Given the description of an element on the screen output the (x, y) to click on. 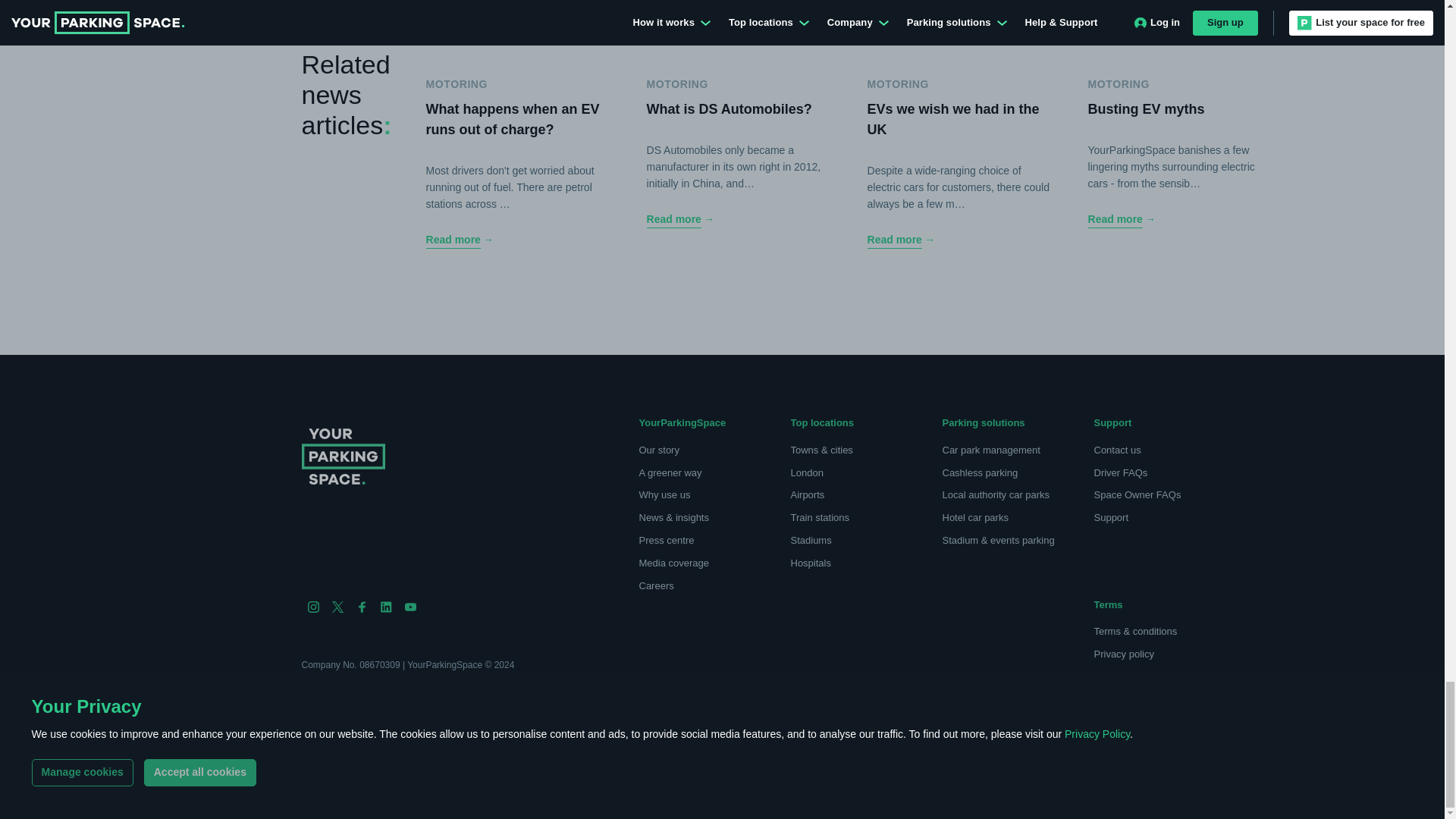
What is DS Automobiles? (737, 219)
What happens when an EV runs out of charge? (517, 239)
EVs we wish we had in the UK (958, 239)
Busting EV myths (1179, 219)
